Given the description of an element on the screen output the (x, y) to click on. 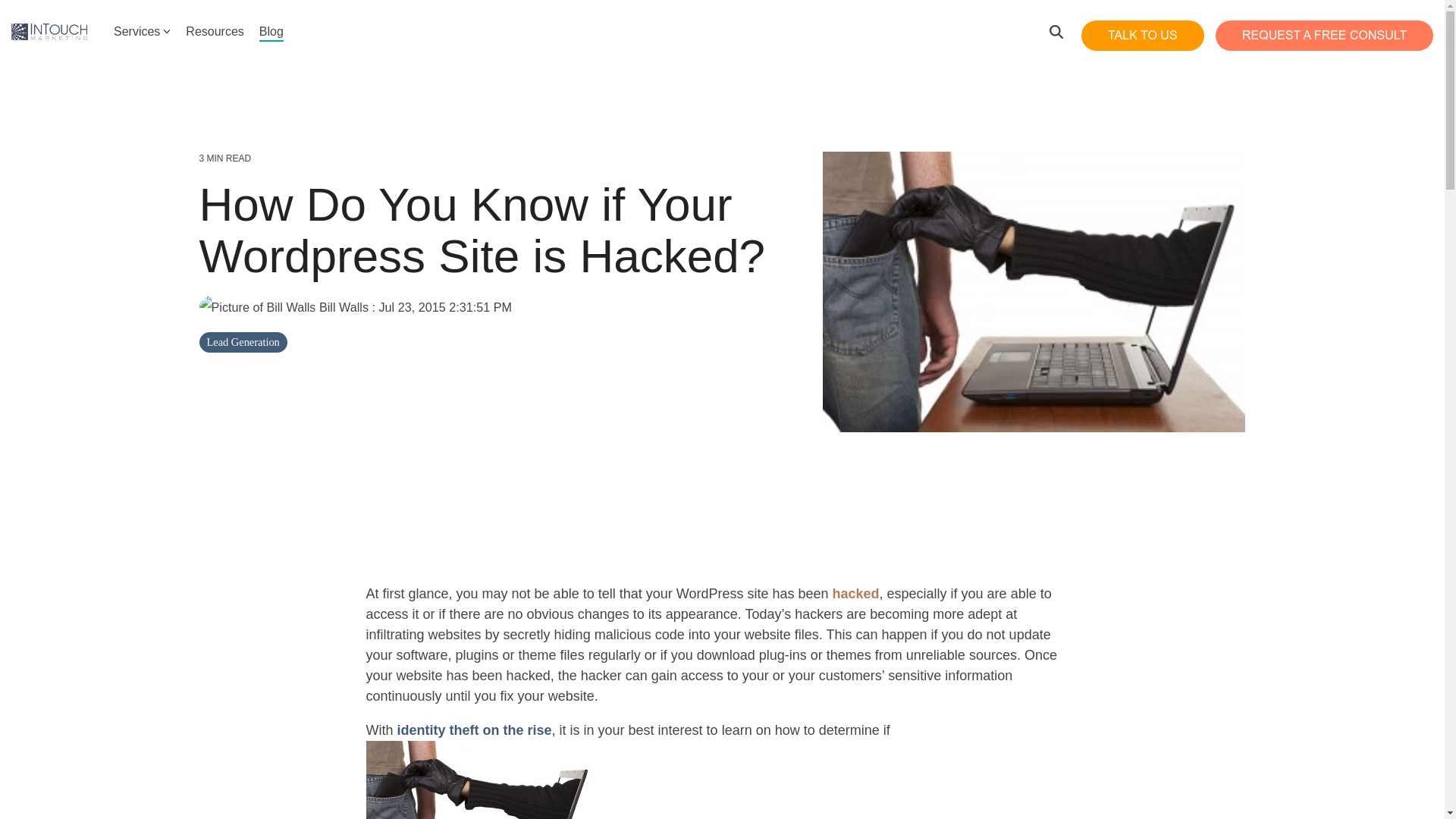
Bill Walls (284, 306)
Resources (214, 31)
identity theft on the rise (474, 729)
hacked (855, 593)
Blog (271, 31)
blue-logo (49, 31)
Services (141, 31)
wordpress site is hacked (478, 780)
Lead Generation (242, 342)
